Given the description of an element on the screen output the (x, y) to click on. 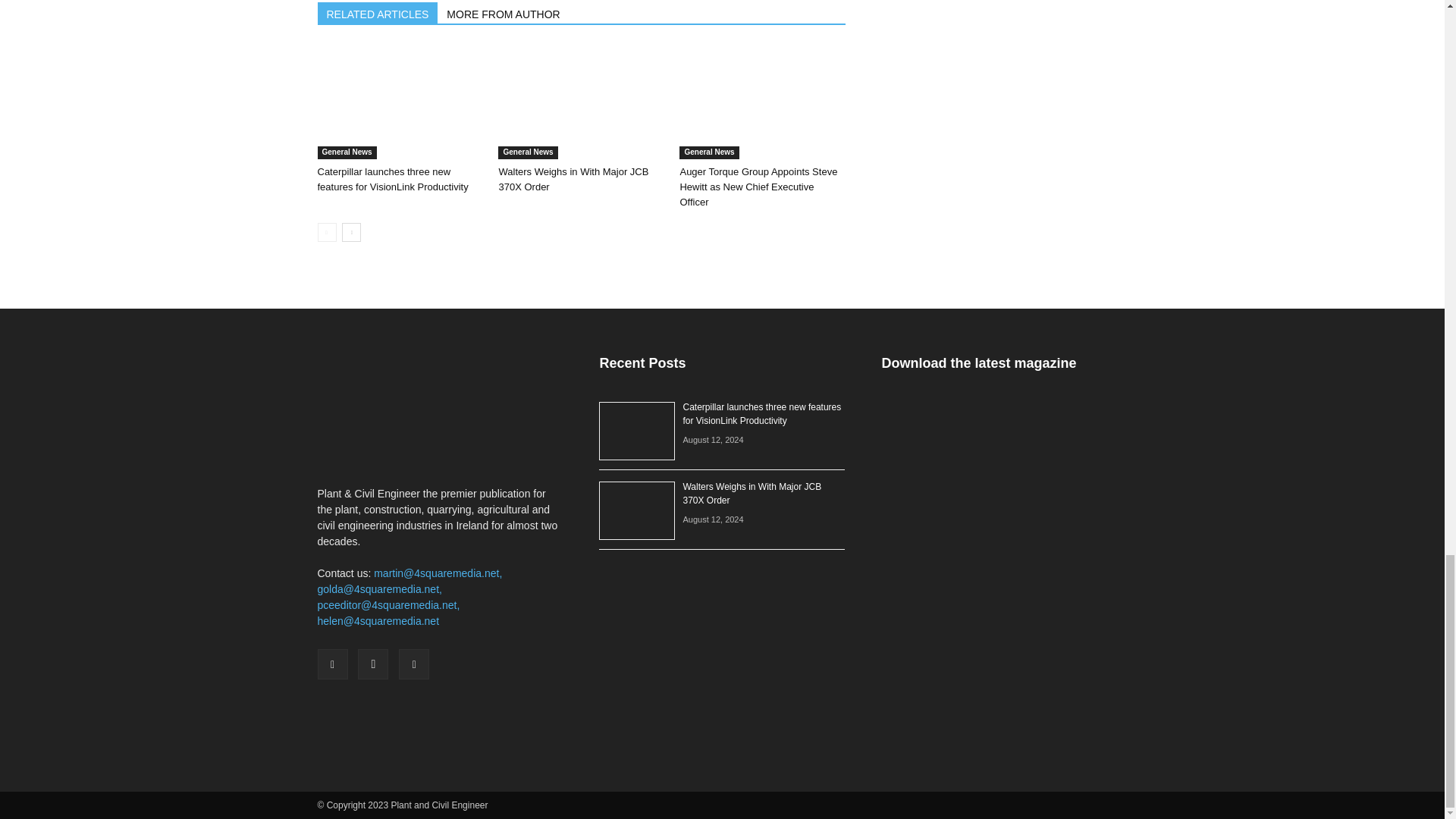
Walters Weighs in With Major JCB 370X Order (572, 179)
Walters Weighs in With Major JCB 370X Order (580, 101)
